Given the description of an element on the screen output the (x, y) to click on. 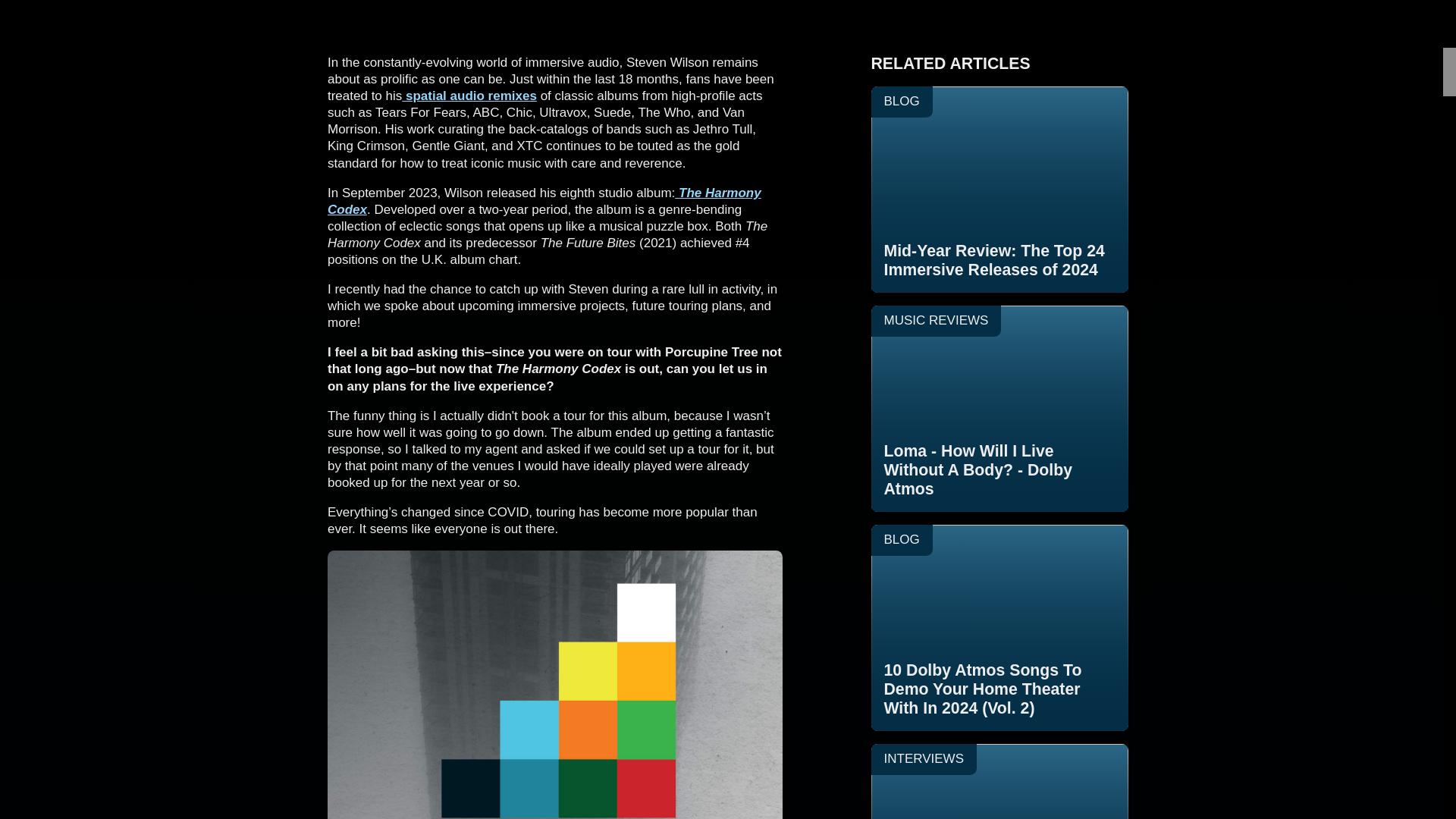
The Harmony Codex (999, 189)
spatial audio remixes (544, 201)
